Given the description of an element on the screen output the (x, y) to click on. 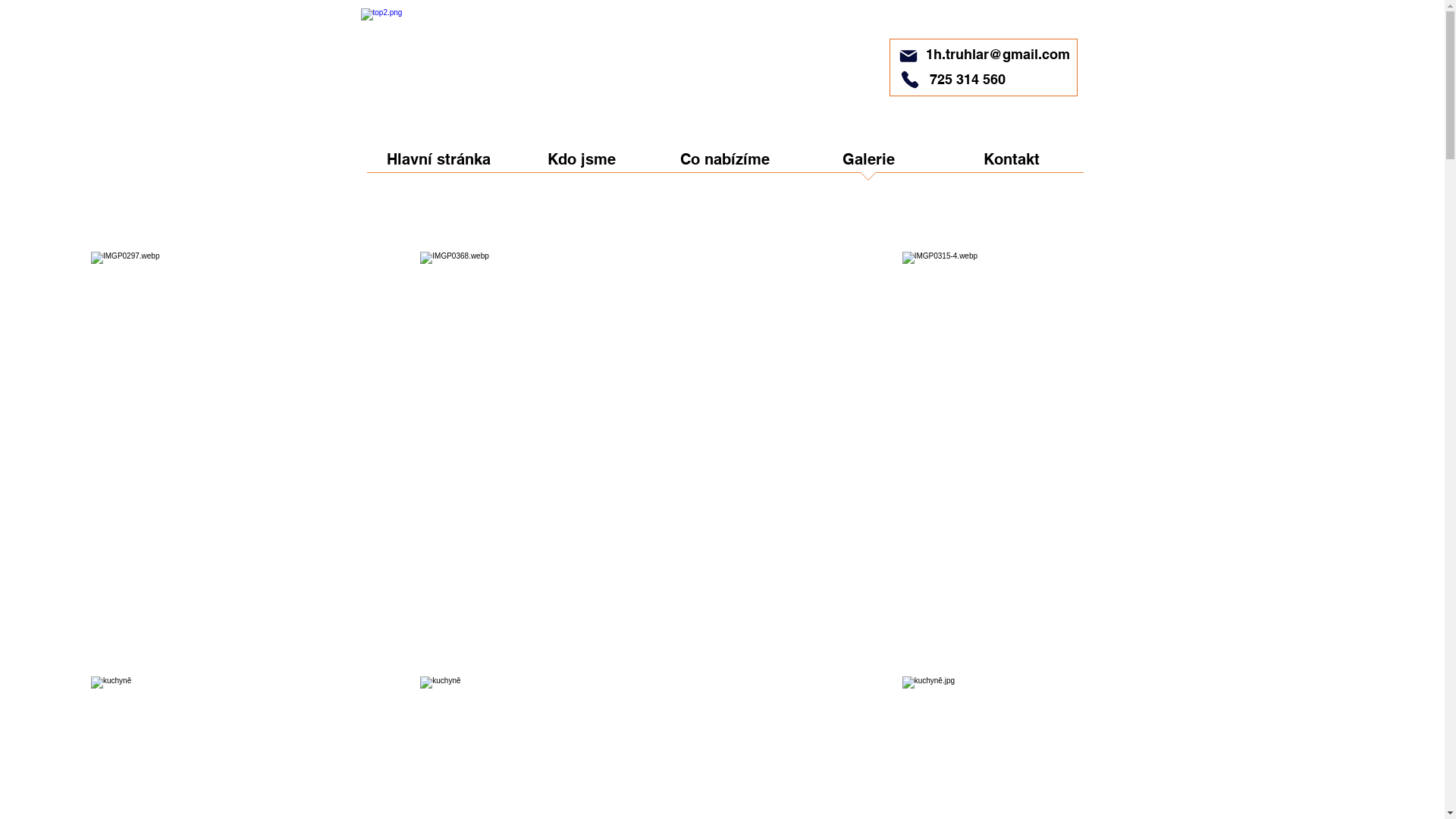
Kontakt Element type: text (1011, 164)
Galerie Element type: text (867, 164)
Kdo jsme Element type: text (580, 164)
1h.truhlar@gmail.com Element type: text (997, 54)
